Given the description of an element on the screen output the (x, y) to click on. 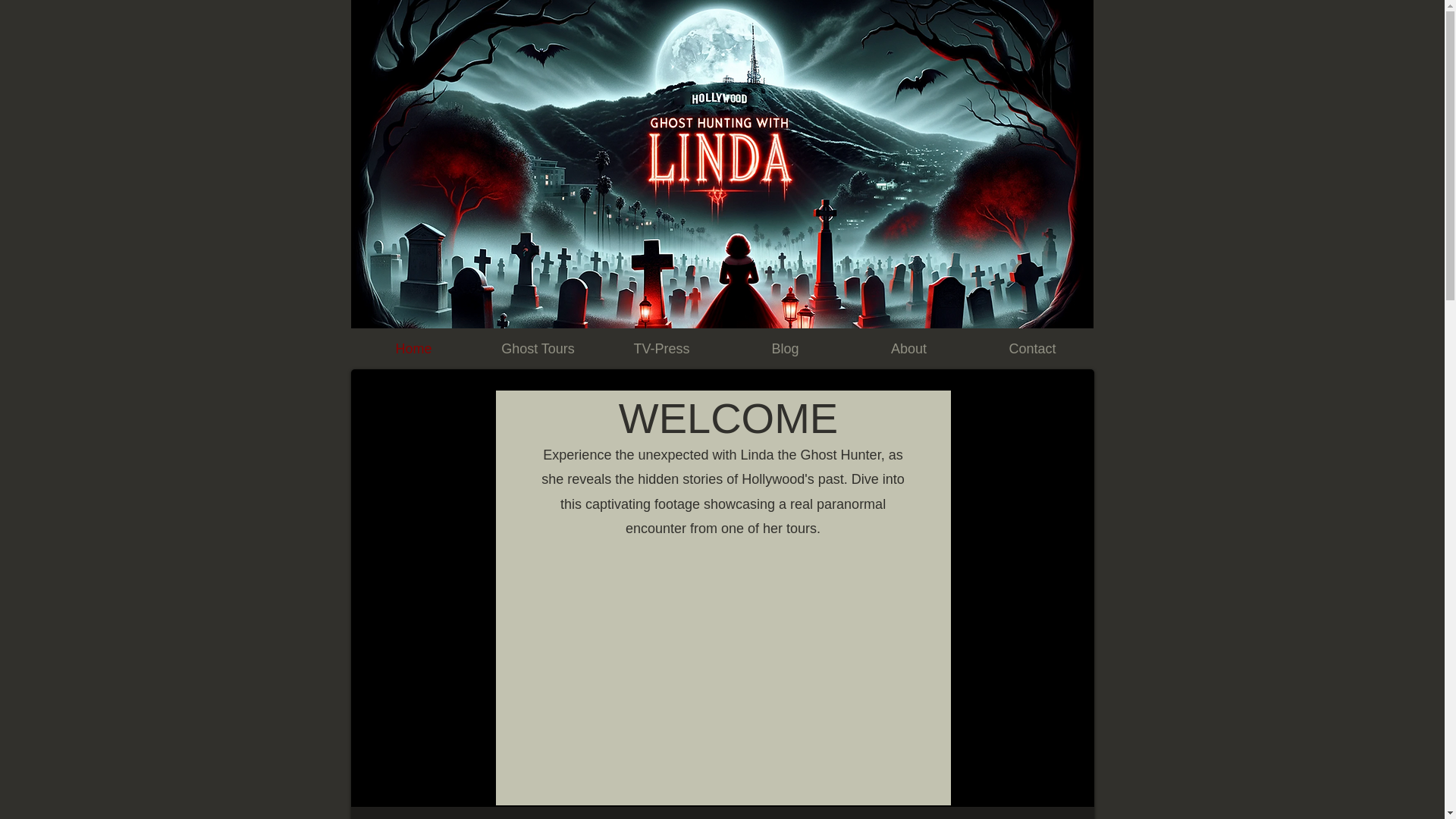
Contact (1032, 348)
Blog (785, 348)
Home (414, 348)
About (907, 348)
Ghost Tours (537, 348)
TV-Press (660, 348)
